Given the description of an element on the screen output the (x, y) to click on. 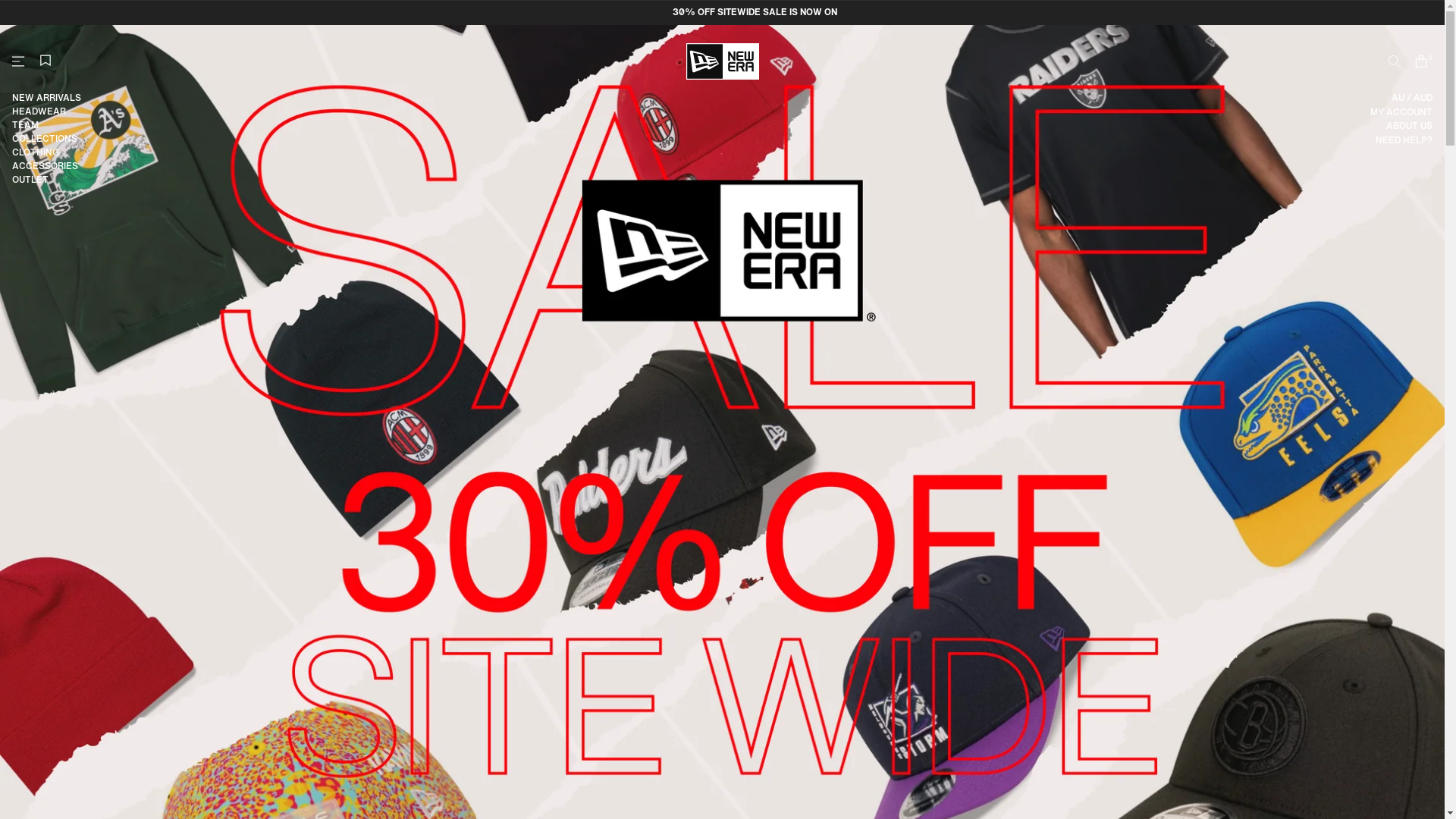
TEAM Element type: text (46, 125)
ABOUT US Element type: text (1409, 125)
HEADWEAR Element type: text (46, 111)
Search Element type: text (1393, 61)
COLLECTIONS Element type: text (46, 138)
OUTLET Element type: text (46, 179)
Cart
0
items Element type: text (1422, 61)
CLOTHING Element type: text (46, 152)
MY ACCOUNT Element type: text (1401, 112)
NEW ERA CAP AUSTRALIA Element type: text (721, 61)
ACCESSORIES Element type: text (46, 166)
AU / AUD Element type: text (1411, 97)
NEW ARRIVALS Element type: text (46, 97)
NEED HELP? Element type: text (1403, 140)
